Given the description of an element on the screen output the (x, y) to click on. 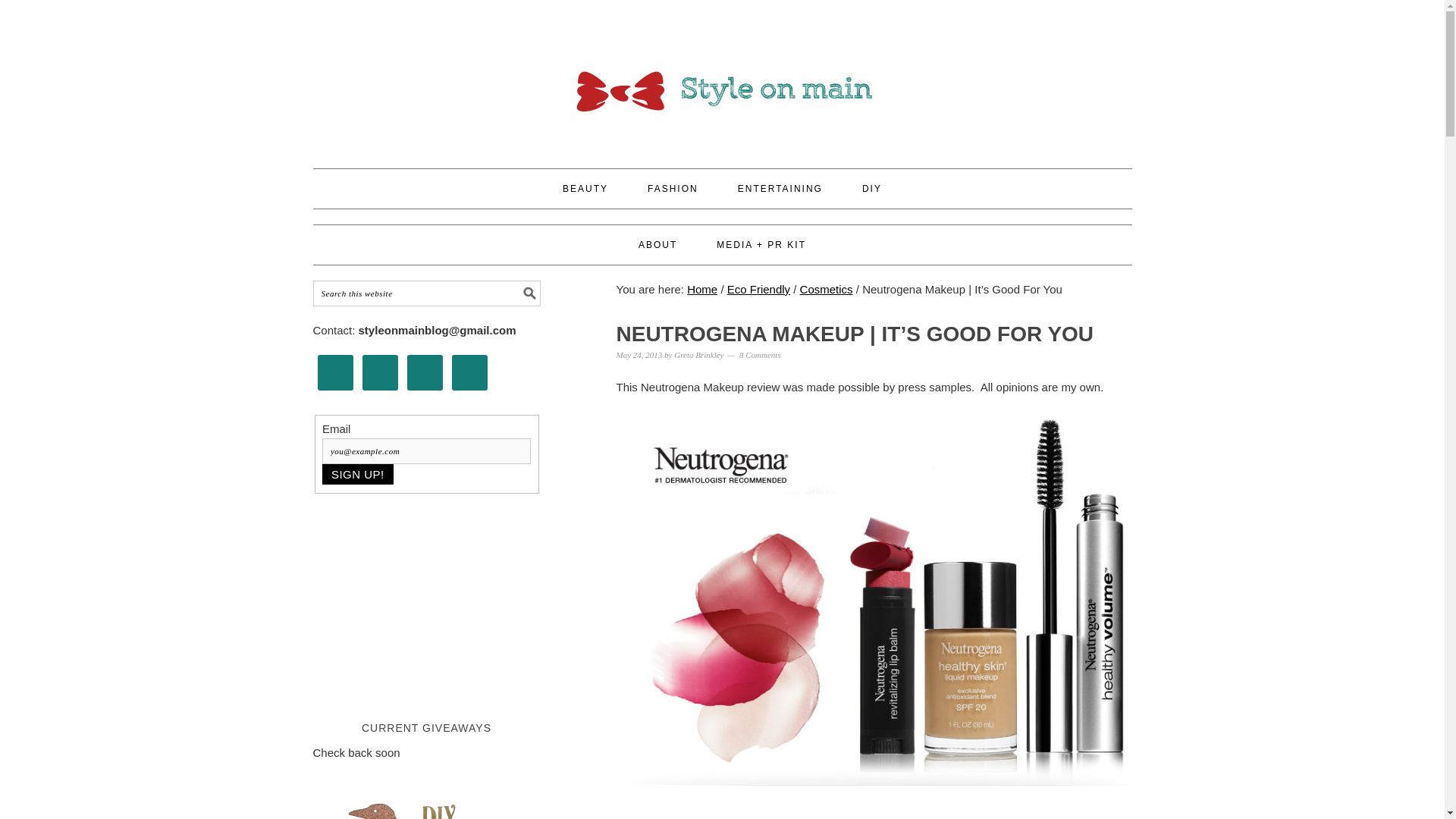
DIY (872, 188)
ABOUT (657, 244)
Greta Brinkley (698, 354)
STYLE ON MAIN (722, 77)
Cosmetics (826, 288)
BEAUTY (585, 188)
8 Comments (759, 354)
FASHION (672, 188)
